Given the description of an element on the screen output the (x, y) to click on. 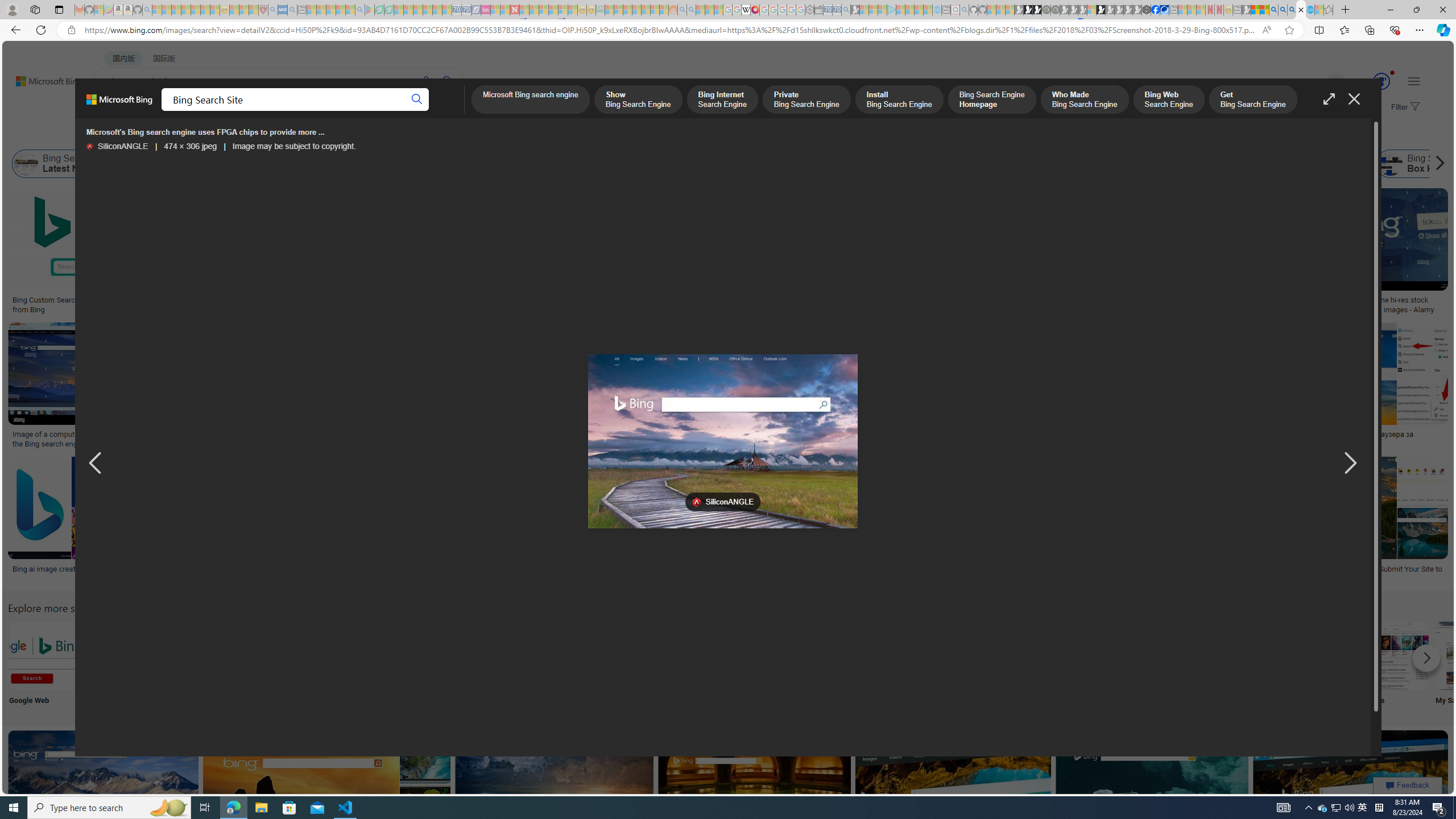
Bing Searches Today (285, 163)
MSN - Sleeping (1246, 9)
Bing People Search People (568, 665)
Scroll more suggestions right (1426, 658)
Previous image result (95, 463)
Terms of Use Agreement - Sleeping (378, 9)
MORE (451, 111)
Google Web Search Bing (42, 654)
Jobs - lastminute.com Investor Portal - Sleeping (485, 9)
Bing Search Dark Mode (342, 654)
ACADEMIC (360, 111)
Utah sues federal government - Search - Sleeping (690, 9)
